Given the description of an element on the screen output the (x, y) to click on. 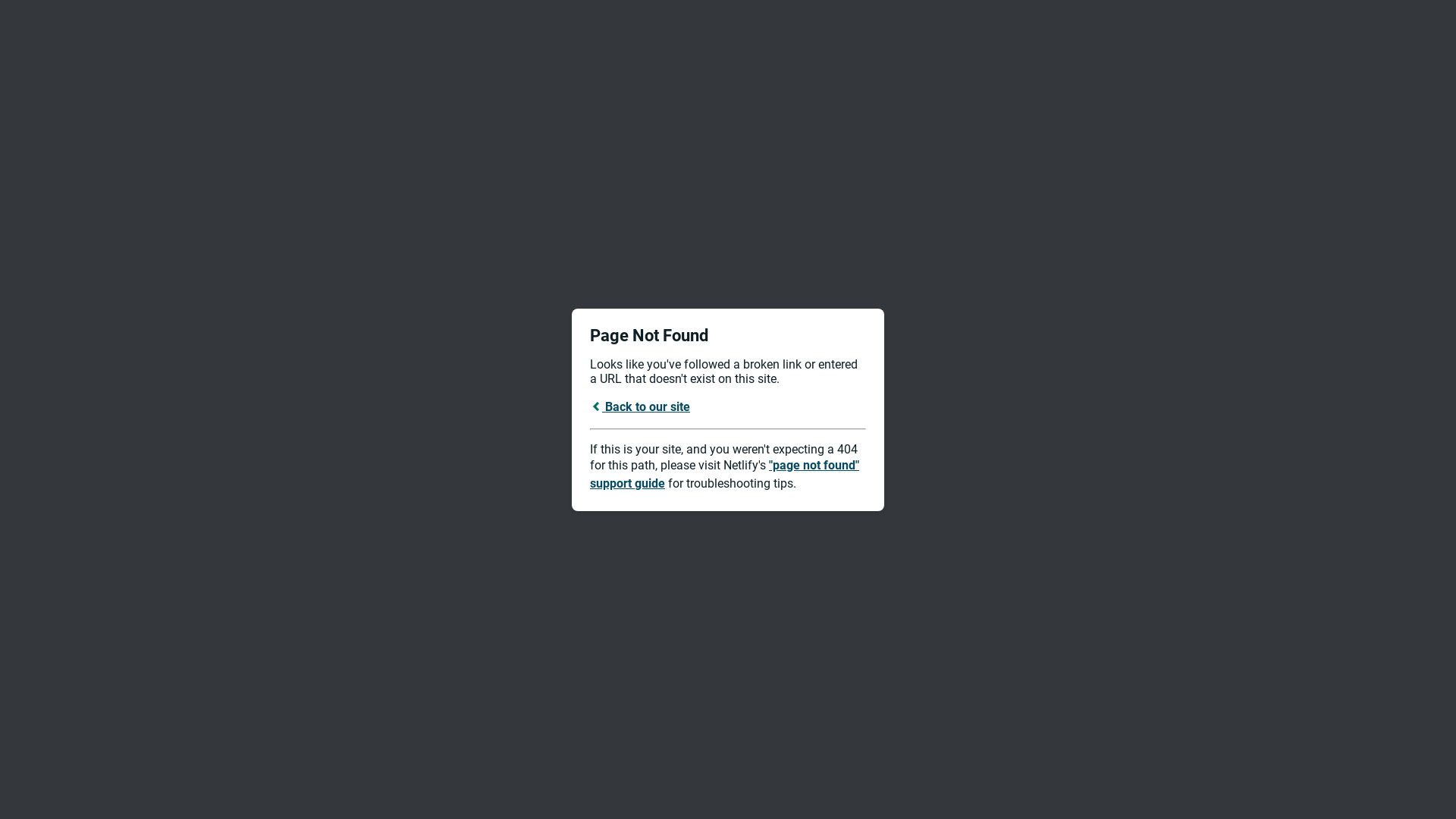
Back to our site Element type: text (639, 405)
"page not found" support guide Element type: text (724, 474)
